Given the description of an element on the screen output the (x, y) to click on. 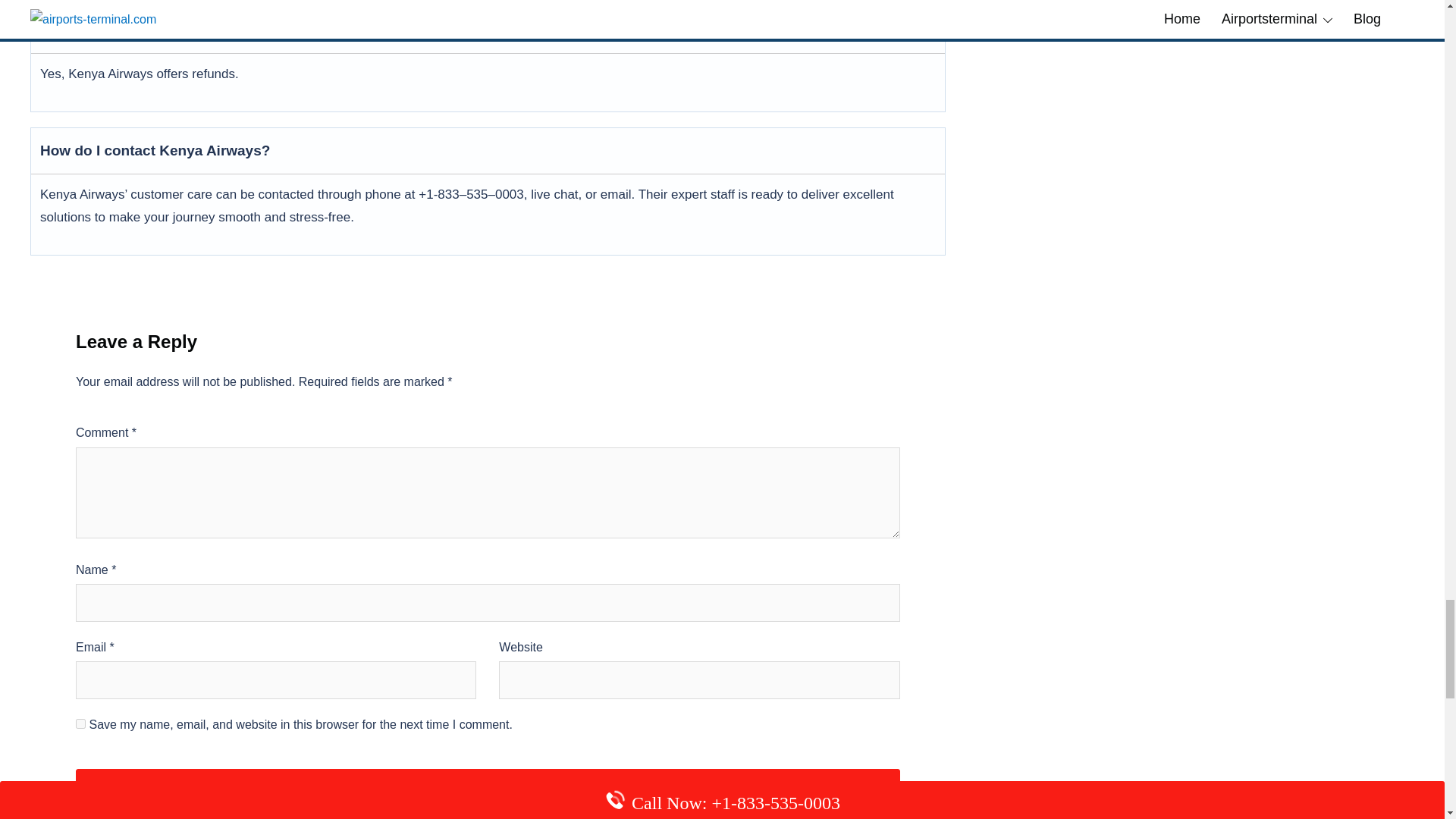
Post Comment (487, 787)
yes (80, 723)
